Given the description of an element on the screen output the (x, y) to click on. 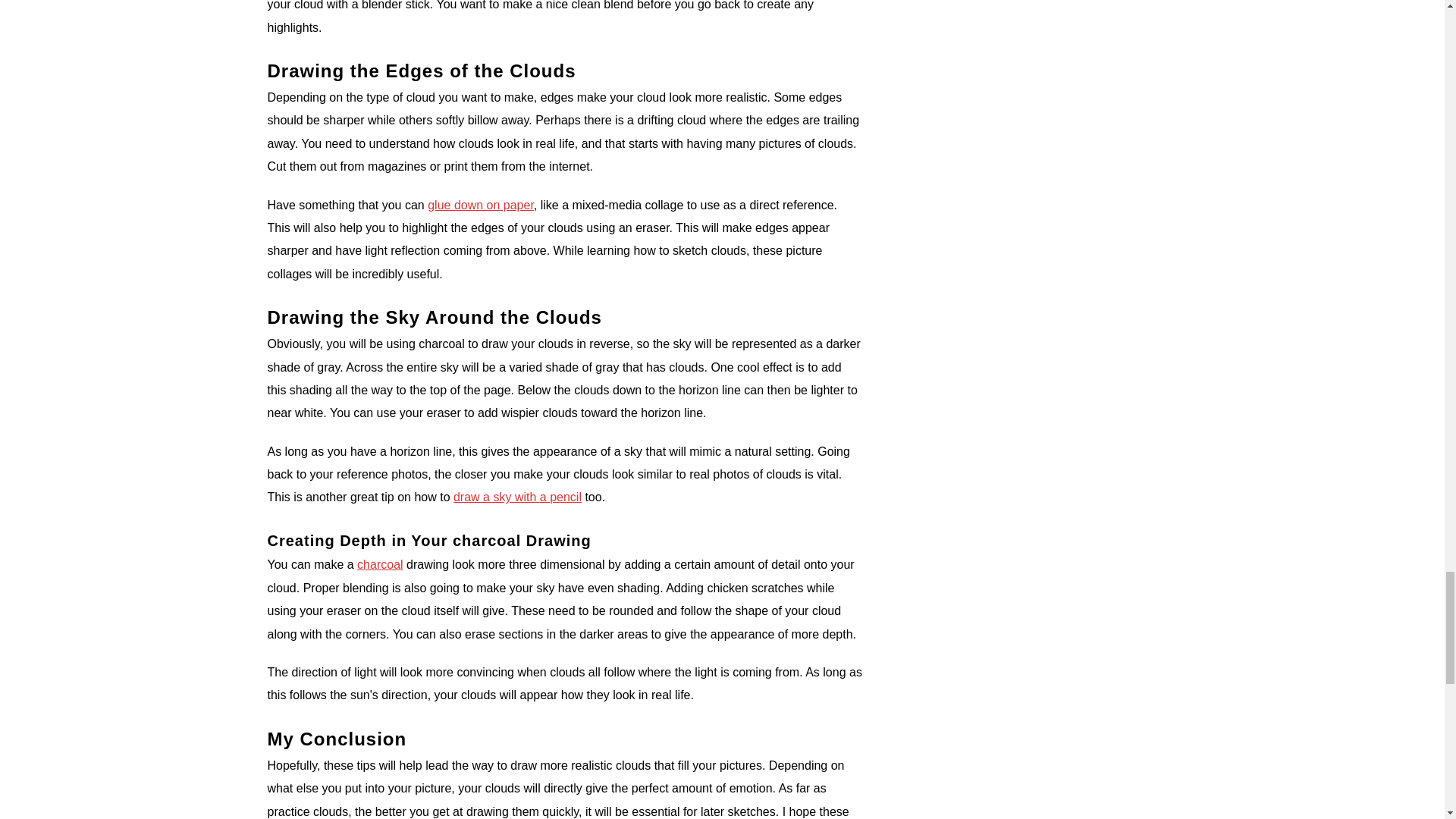
draw a sky with a pencil (516, 496)
charcoal (379, 563)
How to Draw Water (516, 496)
Best Glue for Cardboard and Paper (481, 205)
Is Charcoal Toxic: A Guide To Staying Safe (379, 563)
glue down on paper (481, 205)
